Given the description of an element on the screen output the (x, y) to click on. 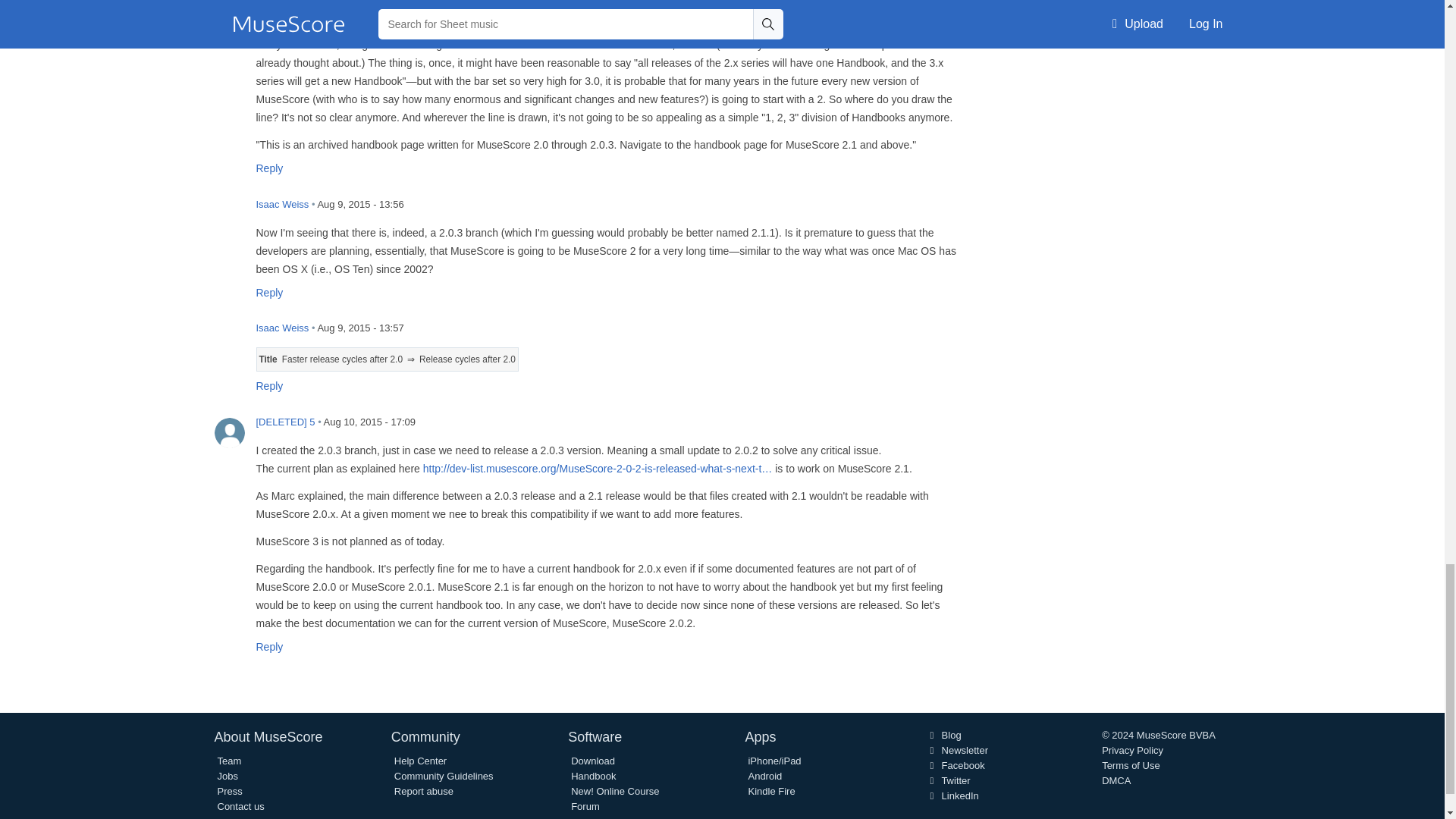
Isaac Weiss (229, 214)
Isaac Weiss (229, 338)
